Given the description of an element on the screen output the (x, y) to click on. 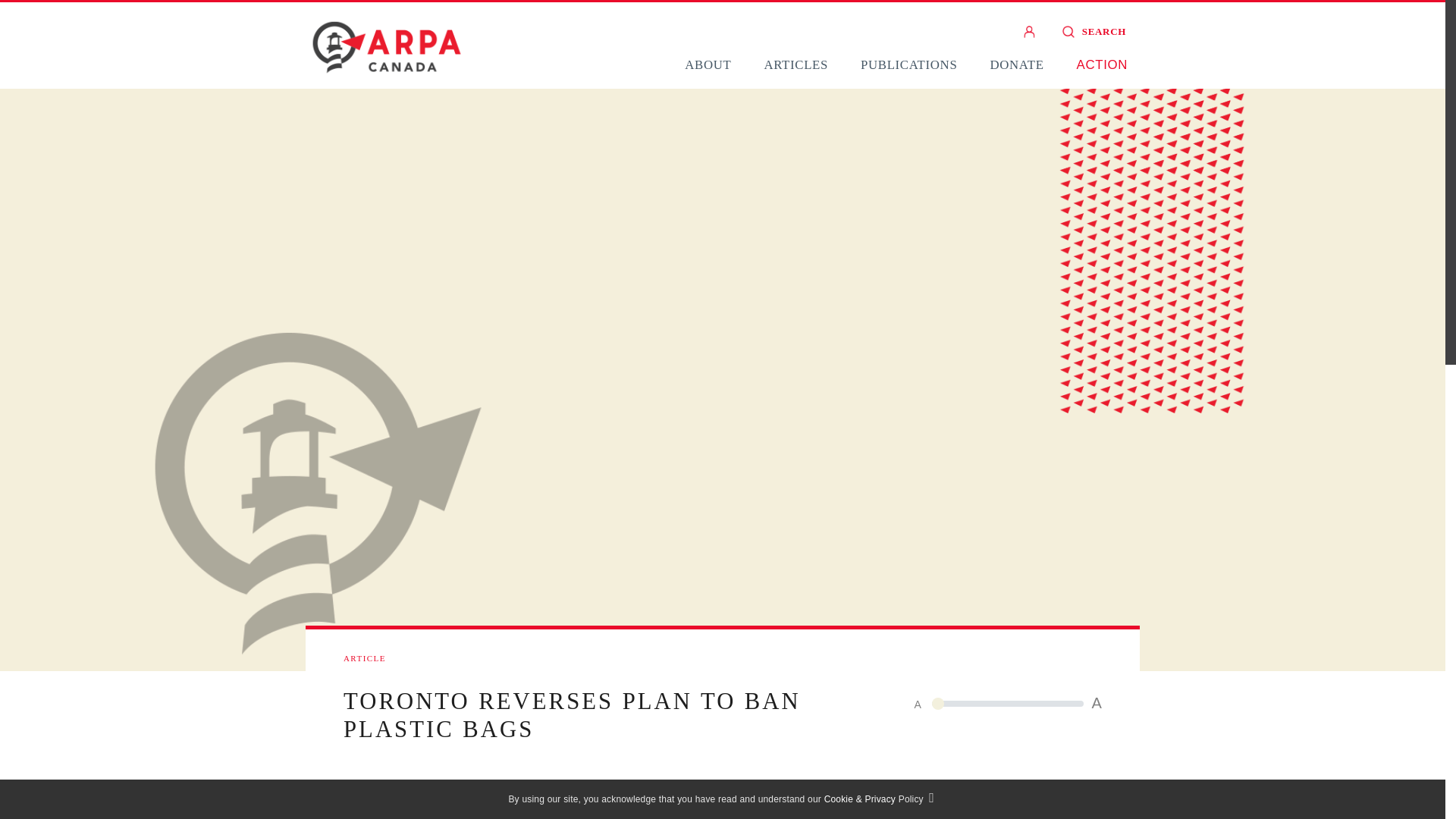
DONATE (1016, 64)
ACTION (1101, 64)
ARTICLES (795, 64)
ABOUT (707, 64)
14 (1007, 703)
PUBLICATIONS (909, 64)
